Given the description of an element on the screen output the (x, y) to click on. 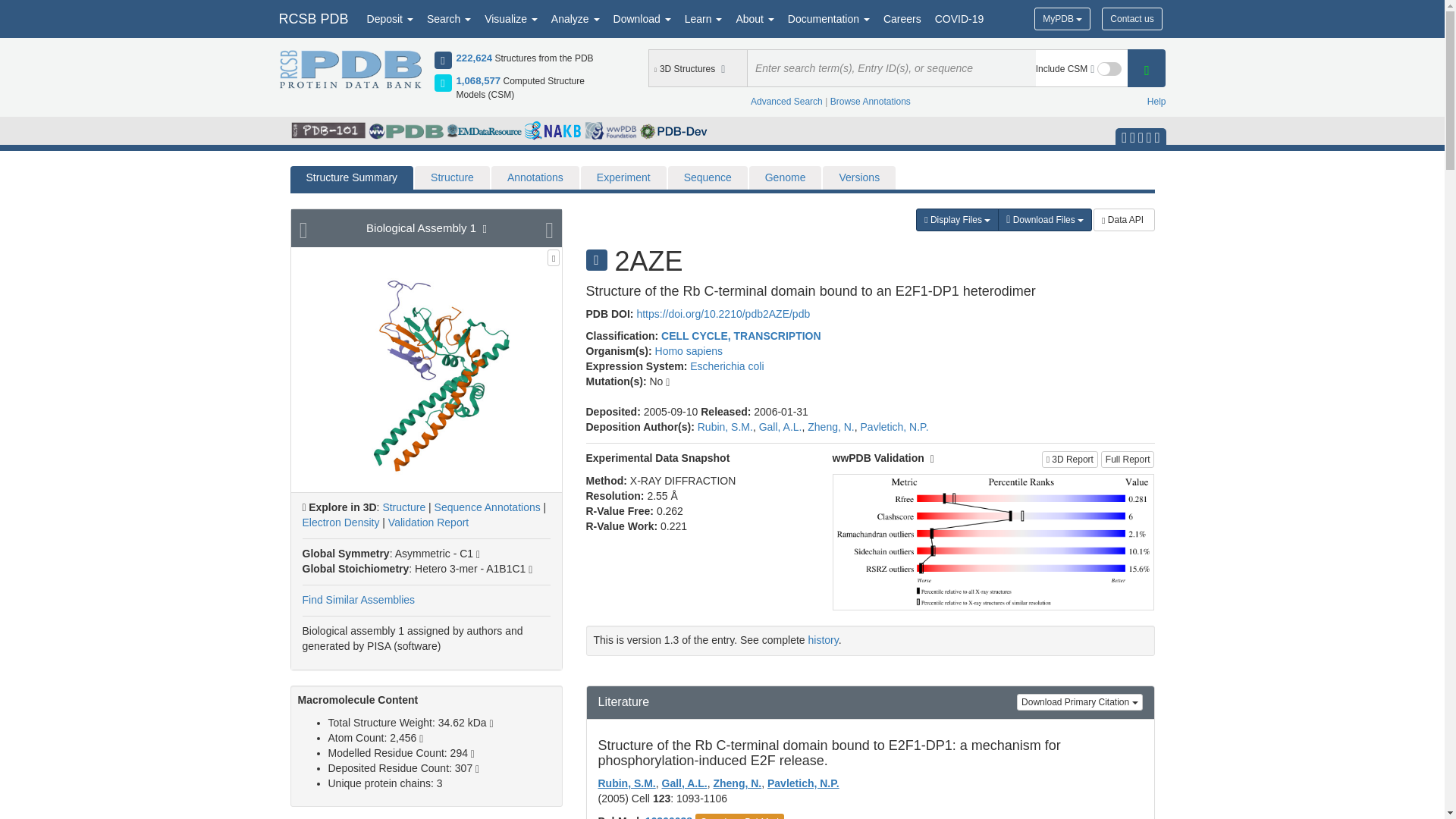
Deposit  (389, 18)
RCSB PDB (312, 18)
MyPDB (1061, 18)
Search  (448, 18)
